Given the description of an element on the screen output the (x, y) to click on. 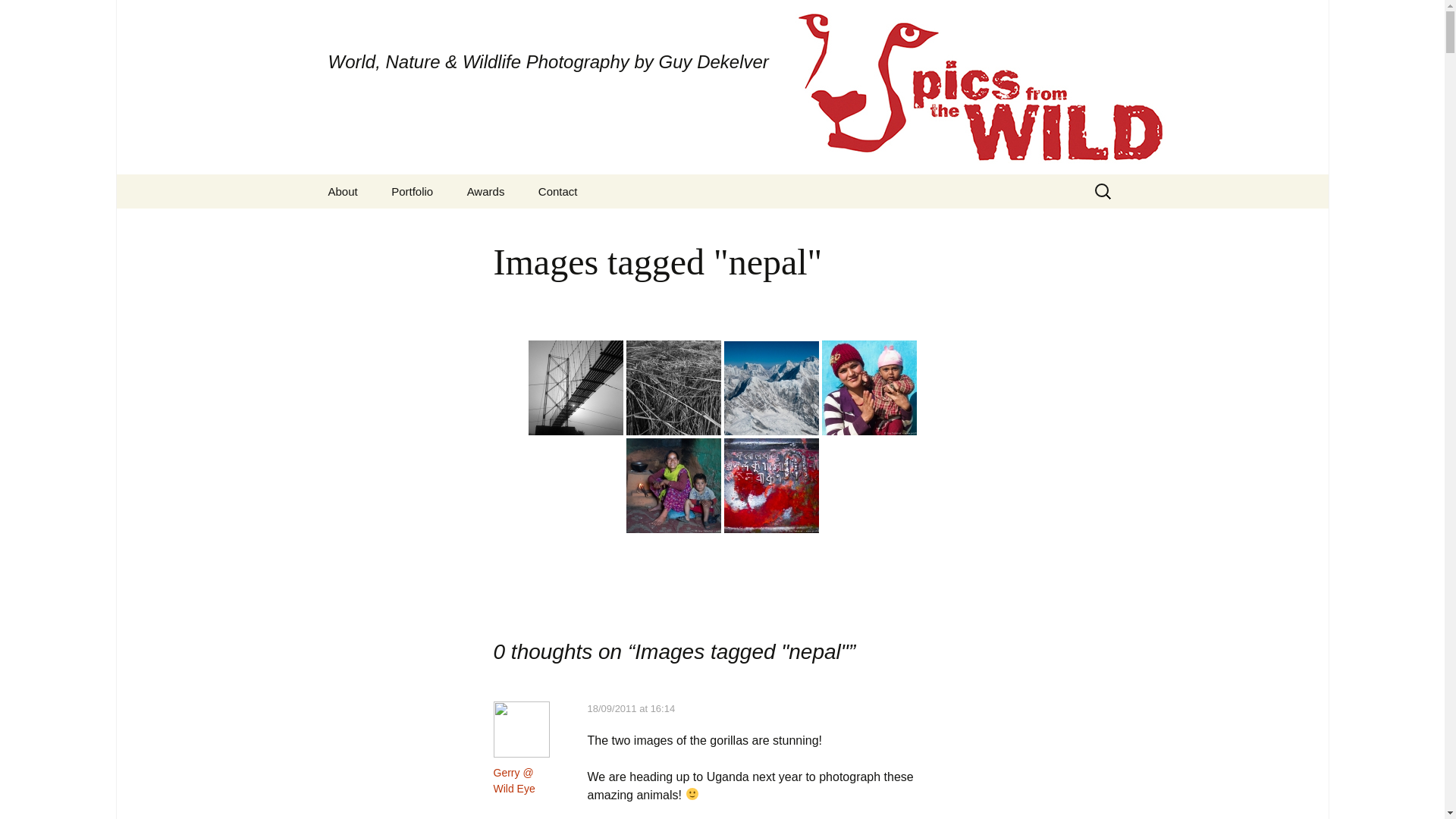
Contact (557, 191)
Portfolio (411, 191)
Awards (485, 191)
About (342, 191)
Search (18, 15)
